Given the description of an element on the screen output the (x, y) to click on. 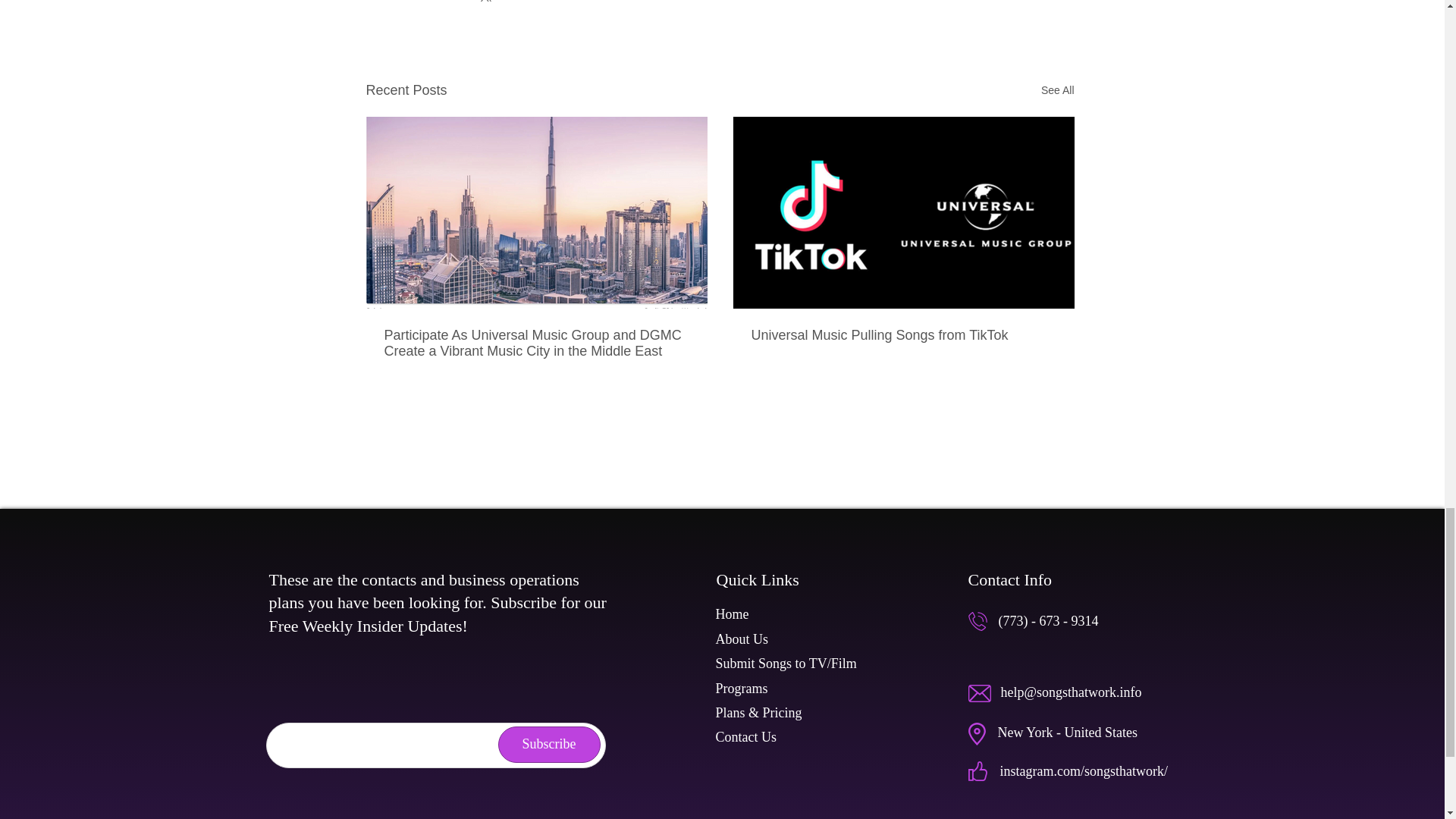
Home (732, 613)
See All (1057, 90)
New York - United States (1067, 732)
About Us (742, 639)
Subscribe (548, 744)
Programs (742, 688)
Contact Us (746, 736)
Universal Music Pulling Songs from TikTok (903, 335)
